Given the description of an element on the screen output the (x, y) to click on. 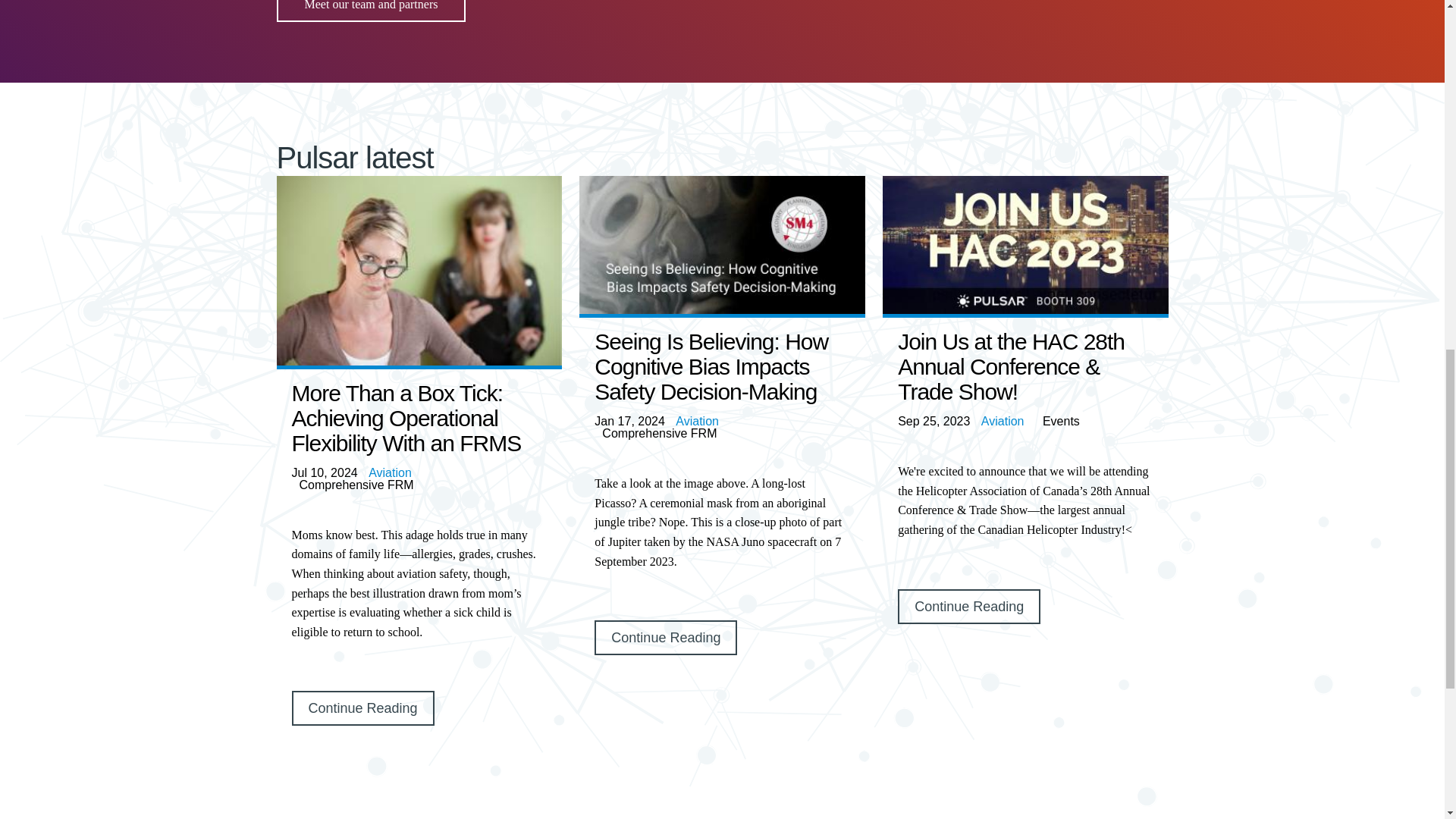
Meet our team and partners (370, 11)
Continue Reading (362, 708)
Continue Reading (665, 637)
Continue Reading (969, 606)
